Given the description of an element on the screen output the (x, y) to click on. 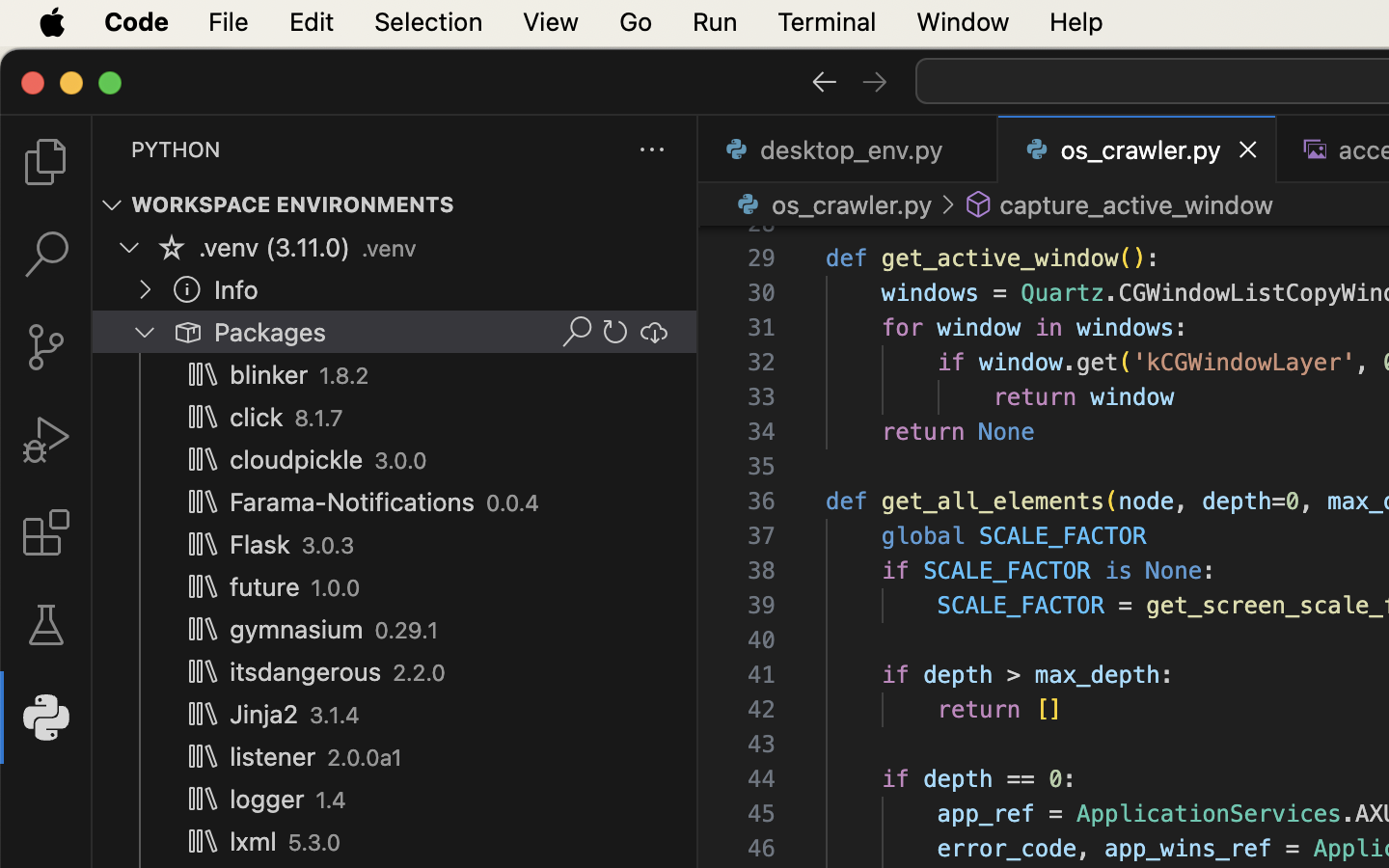
cloudpickle Element type: AXStaticText (296, 459)
Info Element type: AXStaticText (236, 289)
8.1.7 Element type: AXStaticText (319, 418)
Flask Element type: AXStaticText (260, 544)
blinker Element type: AXStaticText (268, 374)
